Given the description of an element on the screen output the (x, y) to click on. 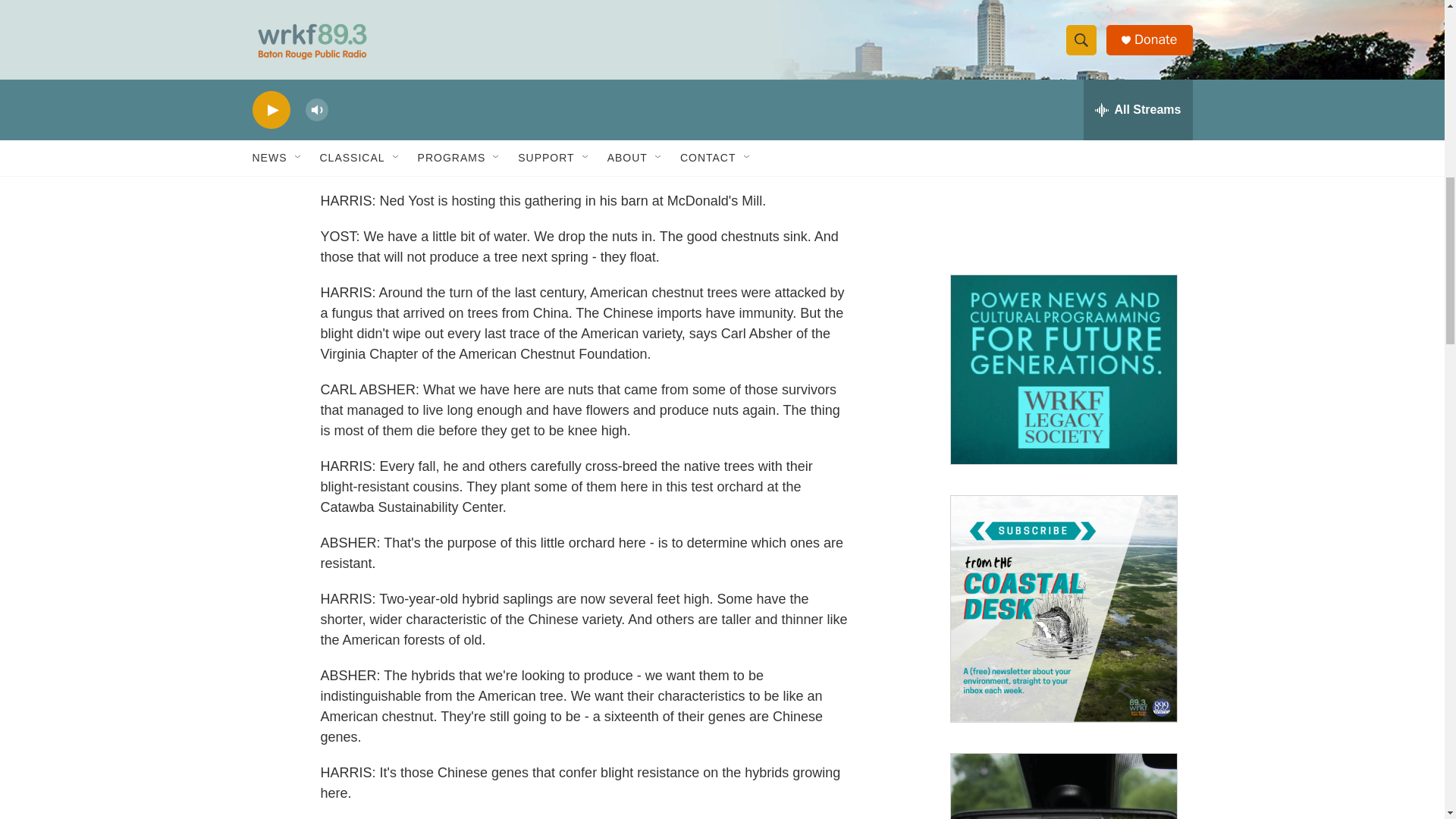
3rd party ad content (1062, 149)
